Given the description of an element on the screen output the (x, y) to click on. 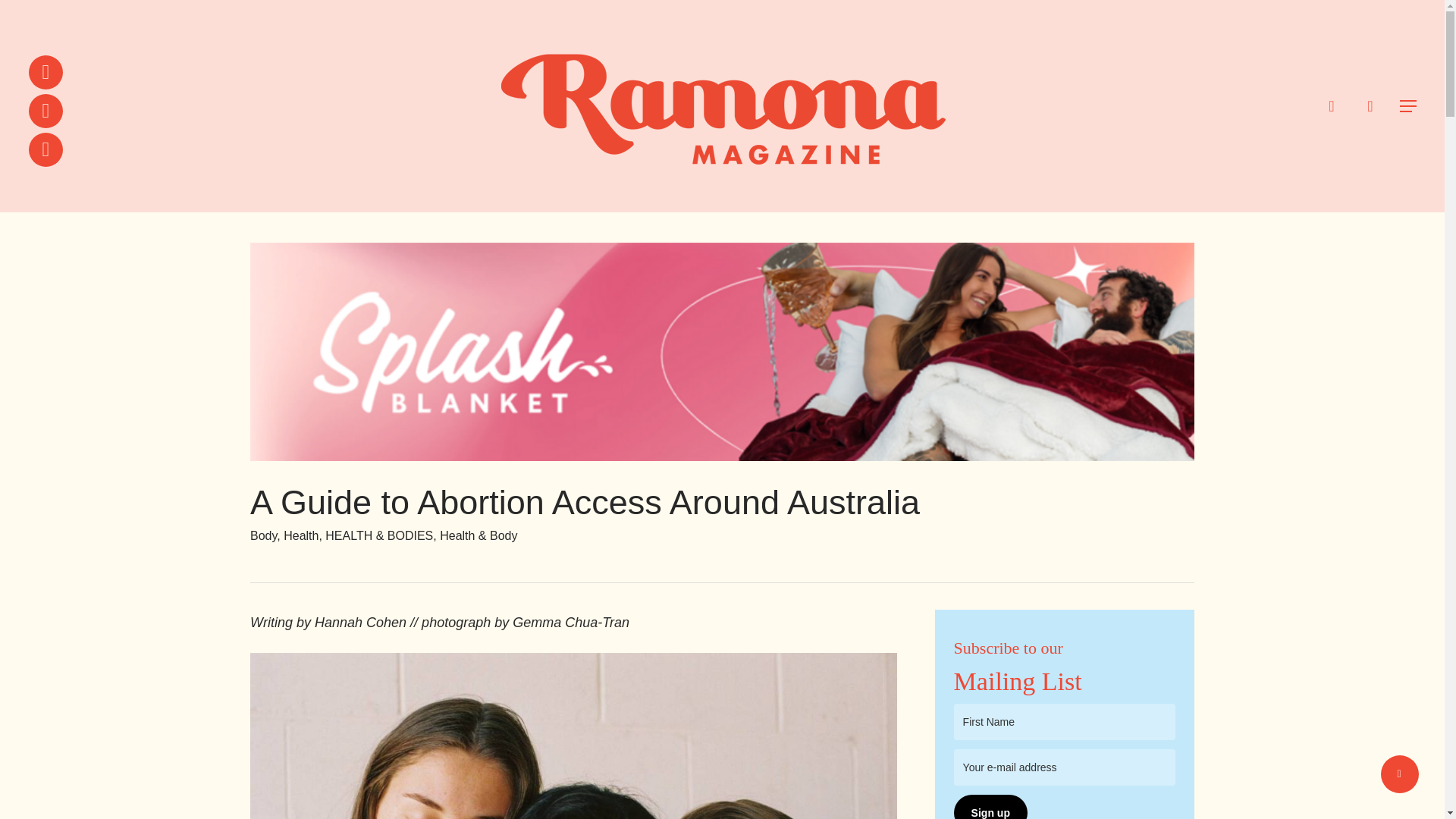
Health (300, 535)
Body (263, 535)
facebook (45, 110)
twitter (45, 72)
search (1331, 106)
instagram (45, 149)
Sign up (990, 806)
Menu (1408, 106)
